Given the description of an element on the screen output the (x, y) to click on. 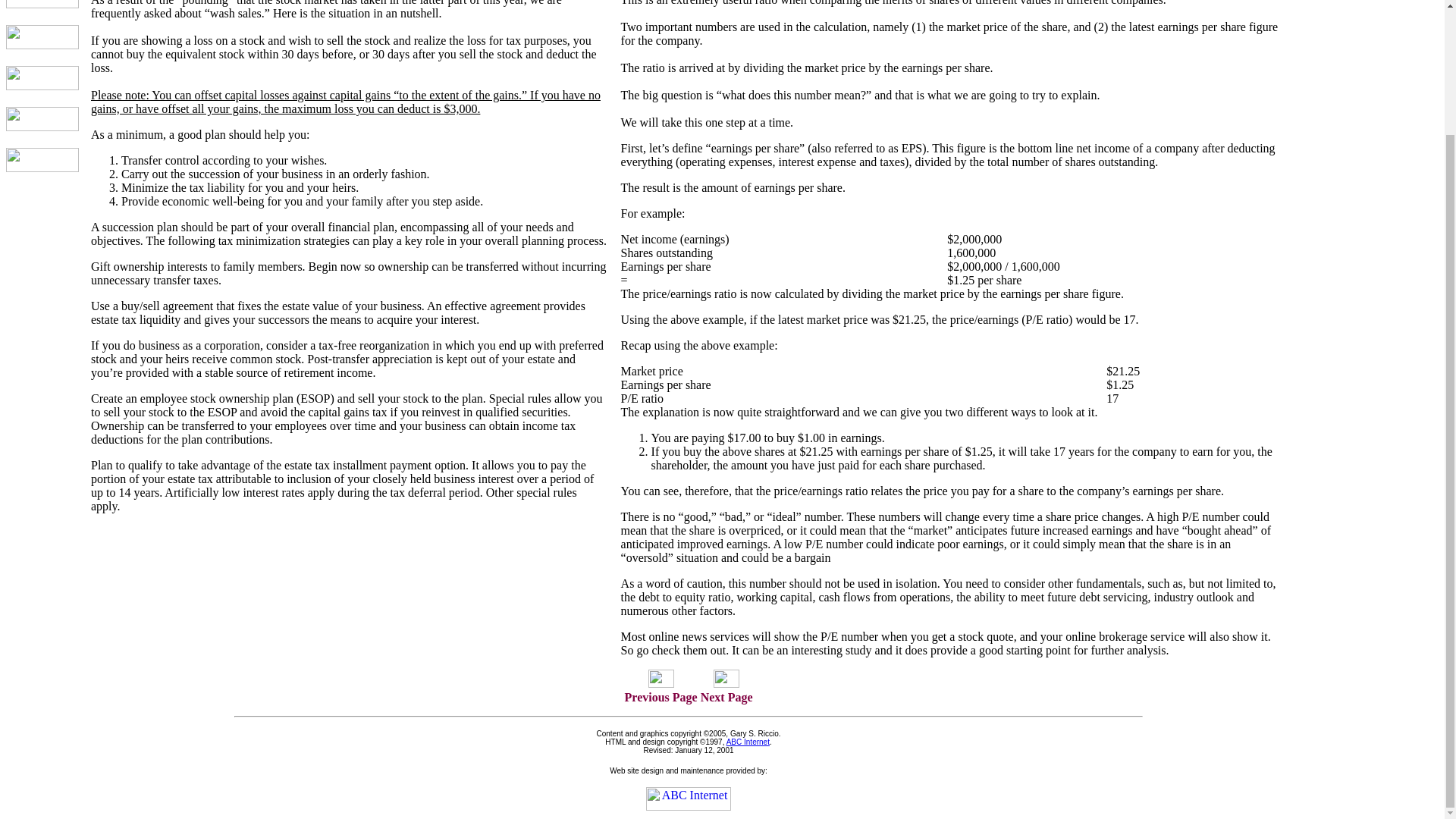
ABC Internet (748, 741)
